Given the description of an element on the screen output the (x, y) to click on. 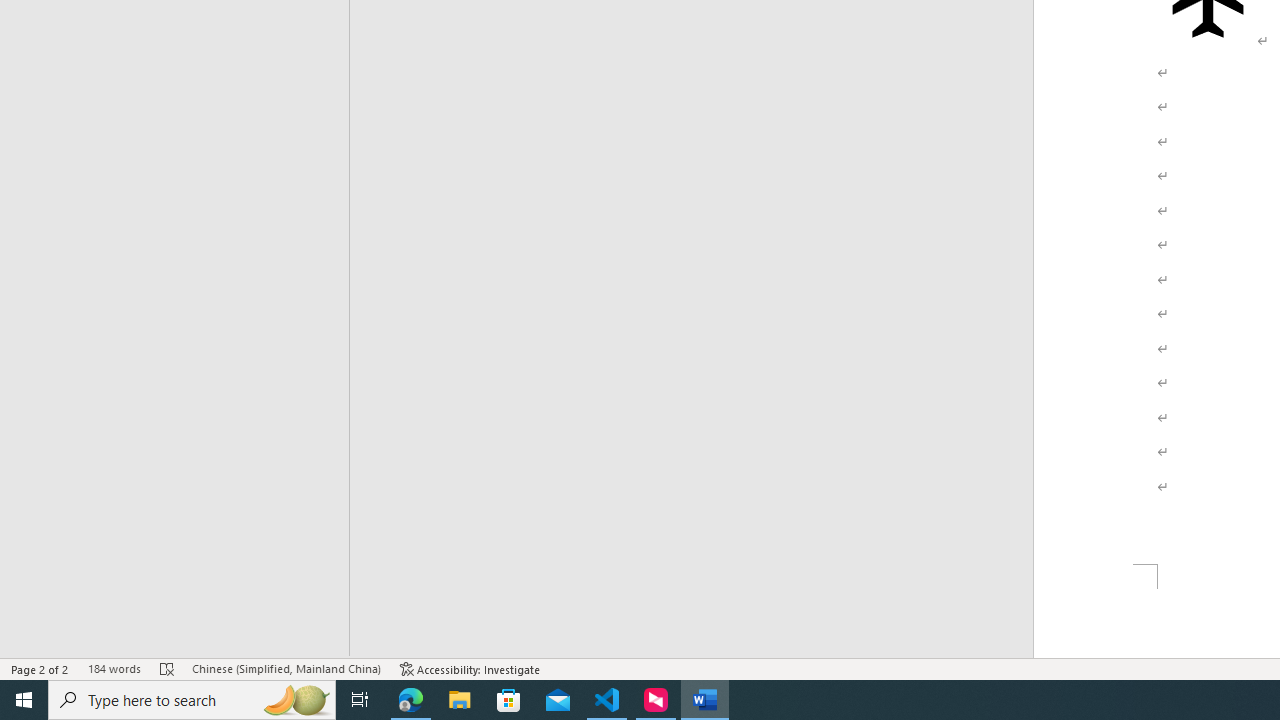
Language Chinese (Simplified, Mainland China) (286, 668)
Page Number Page 2 of 2 (39, 668)
Accessibility Checker Accessibility: Investigate (470, 668)
Spelling and Grammar Check Errors (168, 668)
Word Count 184 words (113, 668)
